Given the description of an element on the screen output the (x, y) to click on. 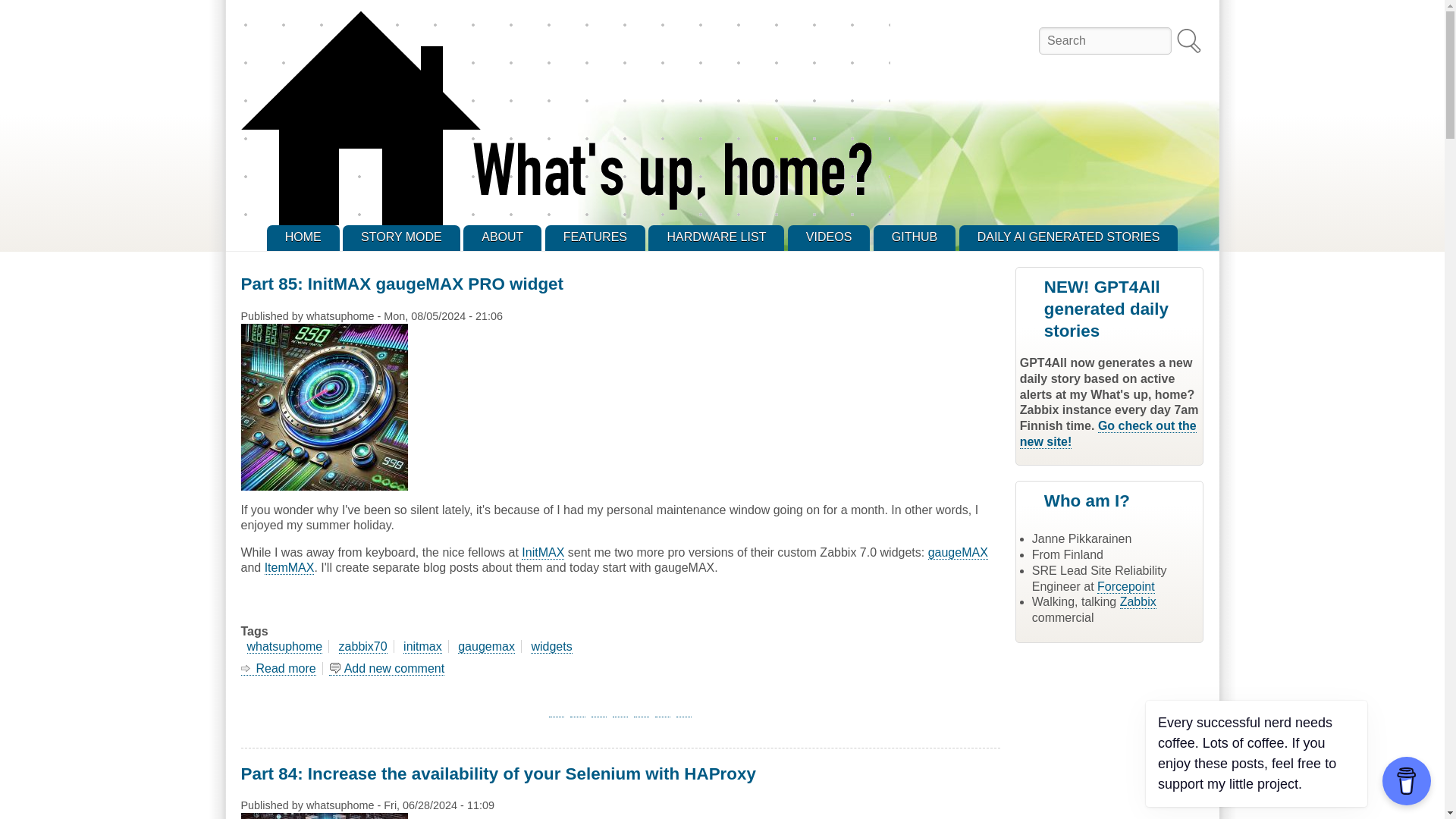
Share to Linkedin (599, 709)
Share to X (577, 709)
zabbix70 (363, 646)
Share to Email (662, 709)
DAILY AI GENERATED STORIES (1068, 237)
widgets (551, 646)
Share to Tumblr (619, 709)
initmax (422, 646)
Add new comment (387, 668)
